Given the description of an element on the screen output the (x, y) to click on. 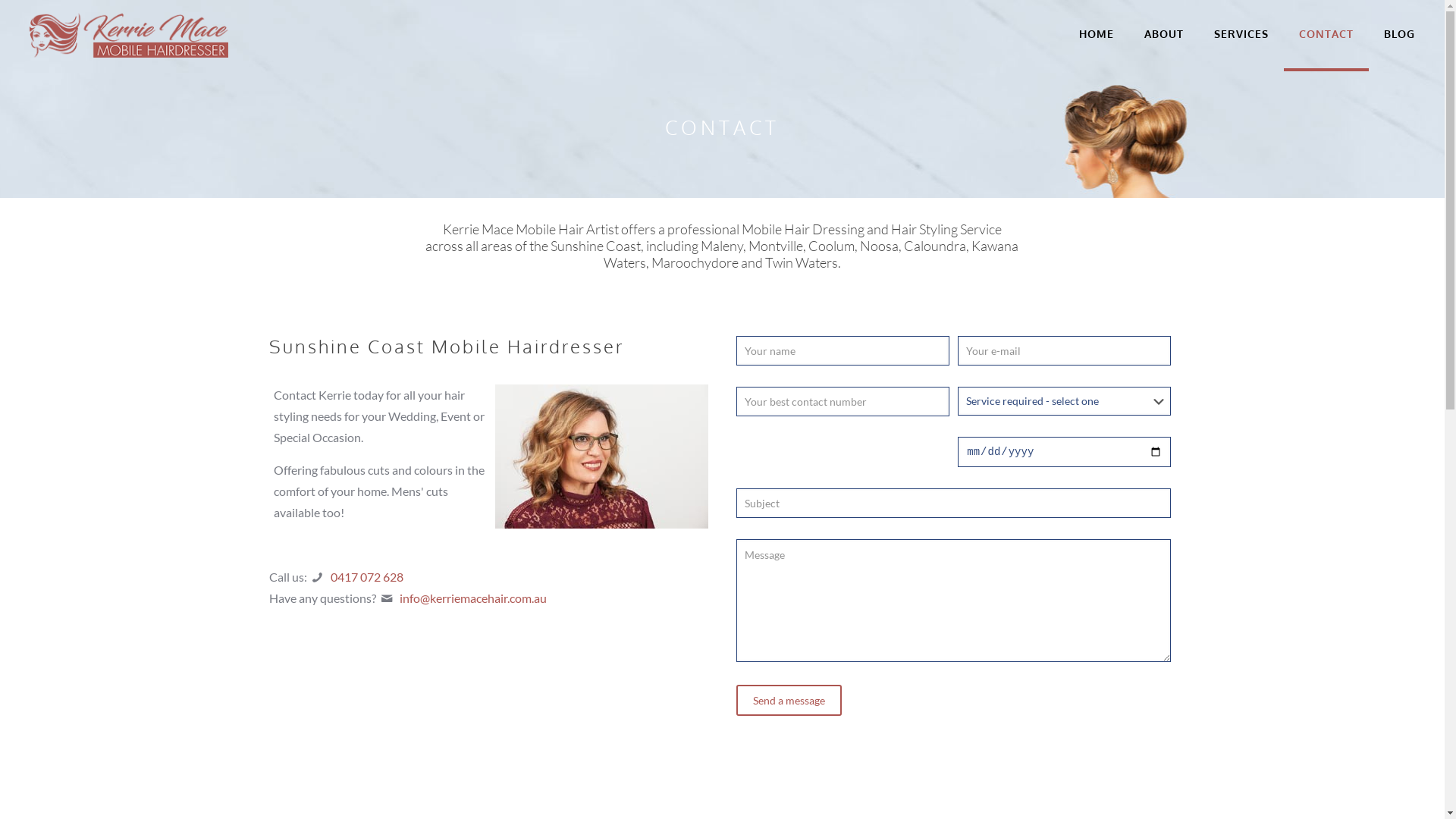
Send a message Element type: text (787, 699)
ABOUT Element type: text (1163, 34)
HOME Element type: text (1096, 34)
0417 072 628 Element type: text (366, 576)
CONTACT Element type: text (1325, 34)
Sunshine Coast Mobile Wedding Hairdresser Element type: hover (128, 34)
info@kerriemacehair.com.au Element type: text (472, 597)
SERVICES Element type: text (1240, 34)
BLOG Element type: text (1399, 34)
